Given the description of an element on the screen output the (x, y) to click on. 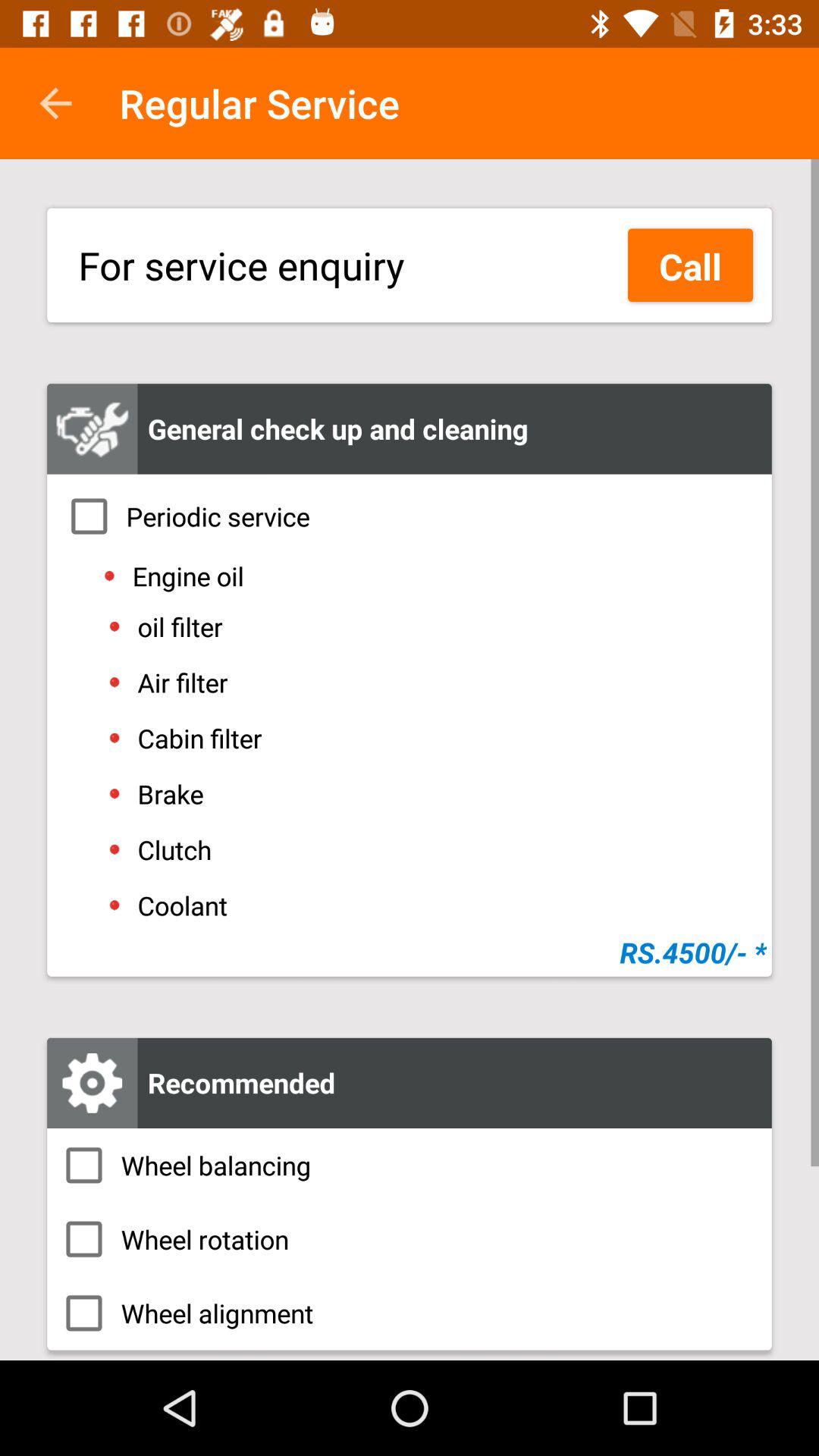
scroll until the wheel rotation (409, 1239)
